Given the description of an element on the screen output the (x, y) to click on. 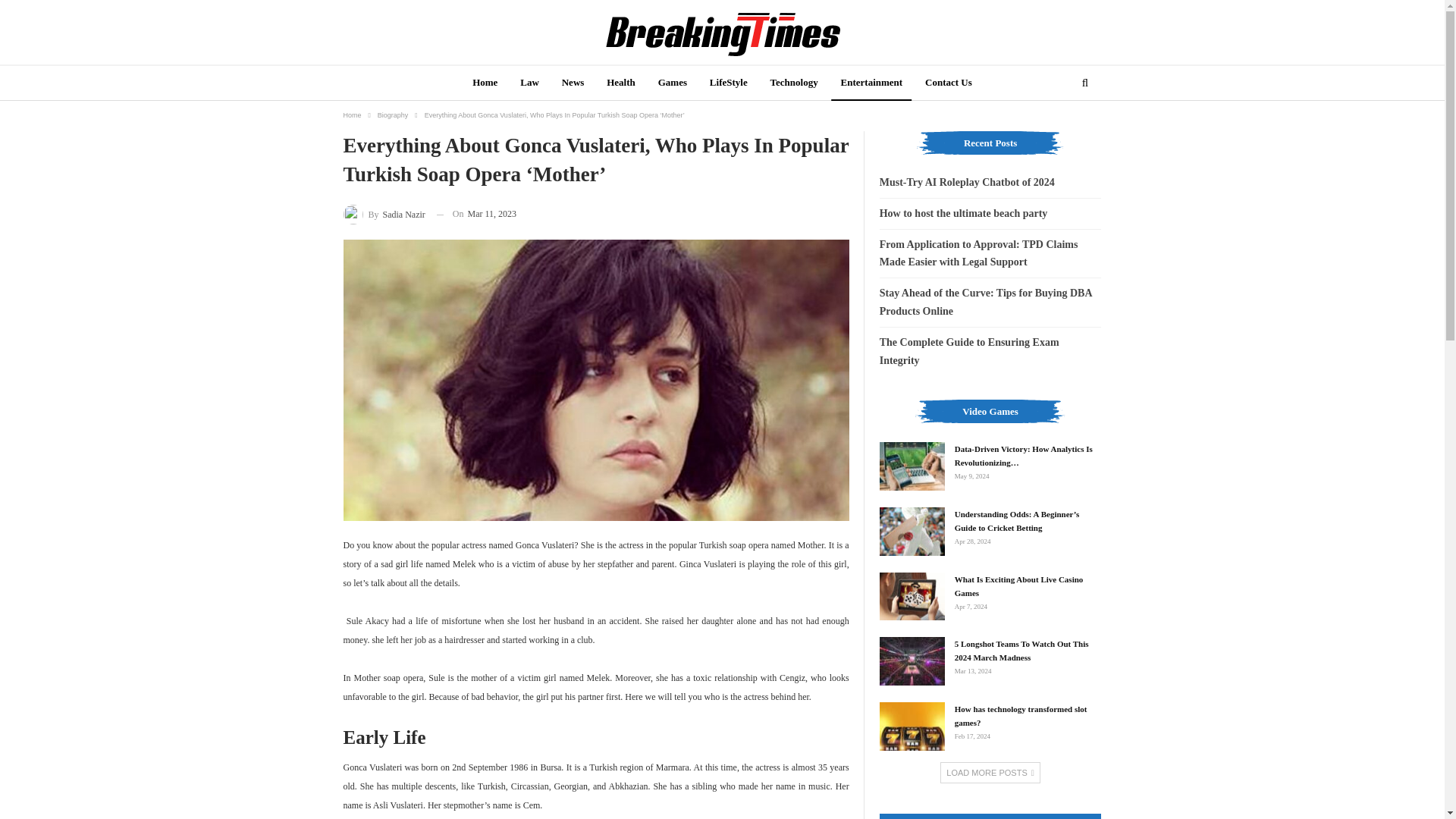
How to host the ultimate beach party (963, 213)
Health (620, 83)
Stay Ahead of the Curve: Tips for Buying DBA Products Online (985, 301)
Home (351, 115)
Biography (393, 115)
News (573, 83)
Must-Try AI Roleplay Chatbot of 2024 (966, 182)
By Sadia Nazir (383, 213)
Browse Author Articles (383, 213)
The Complete Guide to Ensuring Exam Integrity (969, 351)
Contact Us (948, 83)
LifeStyle (728, 83)
Video Games (990, 418)
Home (484, 83)
